Given the description of an element on the screen output the (x, y) to click on. 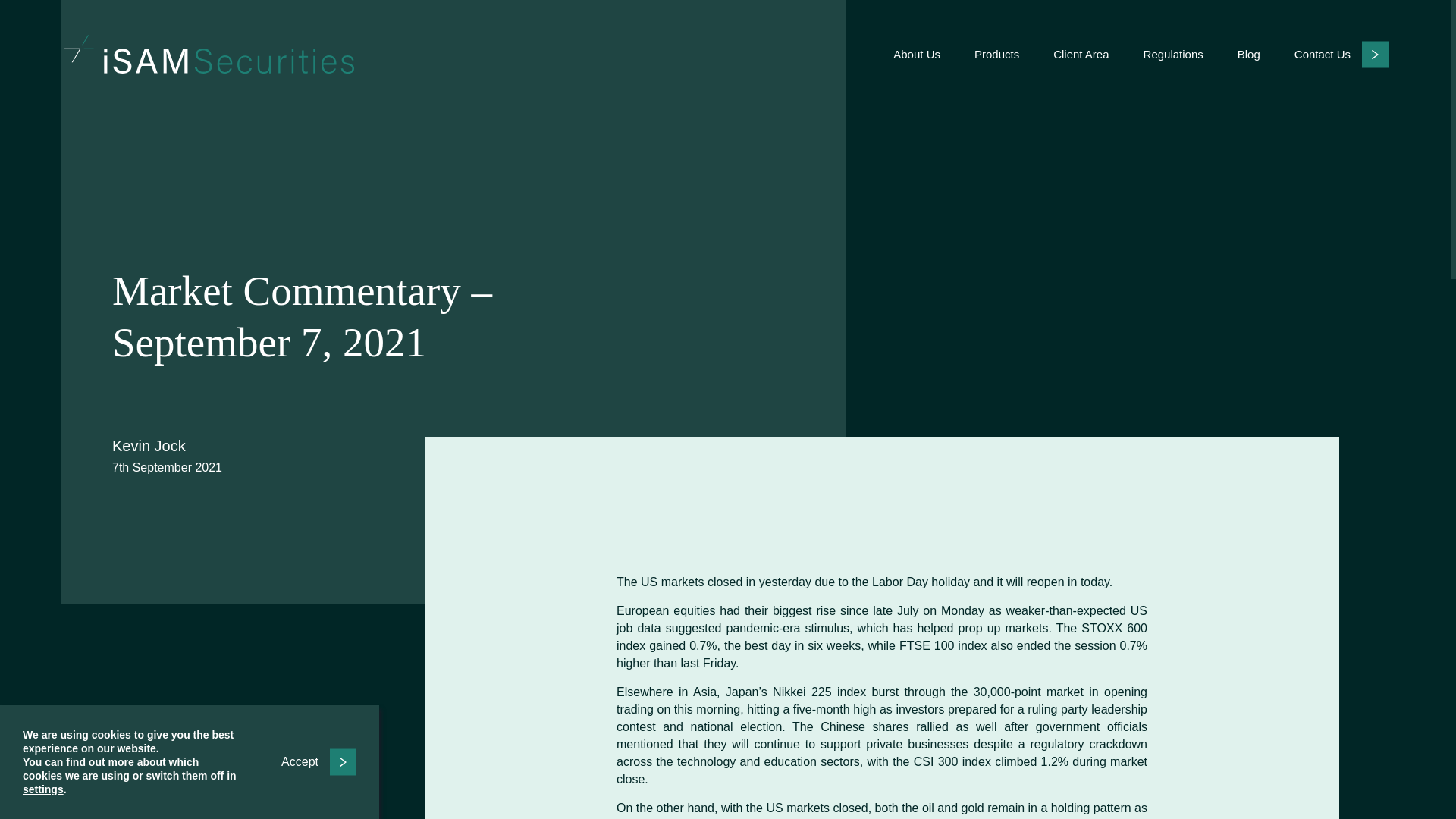
settings (43, 789)
Client Area (1080, 53)
About Us (916, 53)
Accept (318, 761)
Products (996, 53)
Regulations (1173, 53)
Contact Us (1341, 53)
Blog (1248, 53)
